Given the description of an element on the screen output the (x, y) to click on. 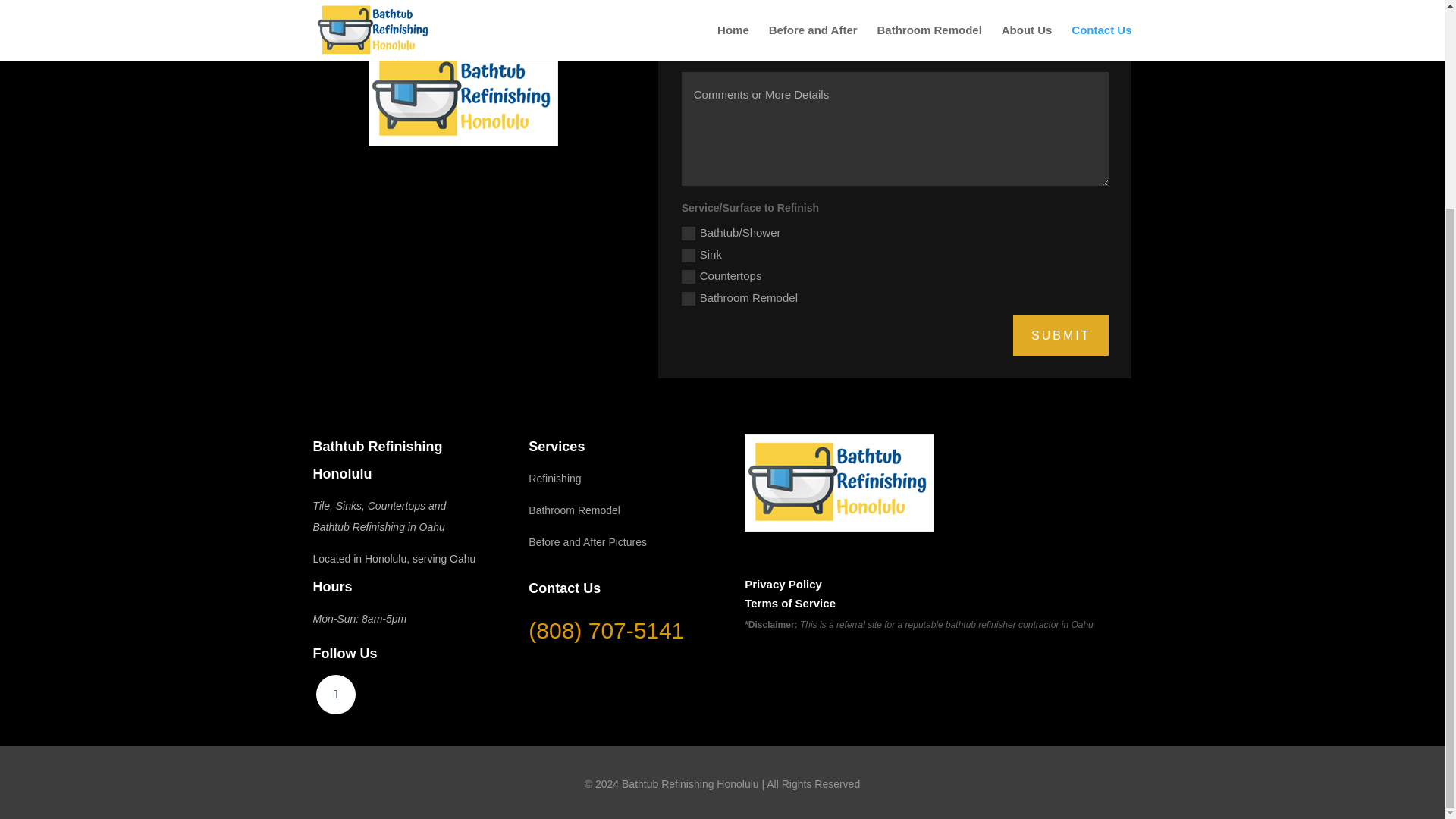
Refinishing (554, 478)
Bathub Refinishing Honolulu (462, 97)
SUBMIT (1060, 335)
Bathub Refinishing Honolulu (839, 482)
Follow on Facebook (335, 694)
Privacy Policy (783, 584)
Bathroom Remodel (574, 510)
Terms of Service (789, 603)
Before and After Pictures (587, 541)
